Given the description of an element on the screen output the (x, y) to click on. 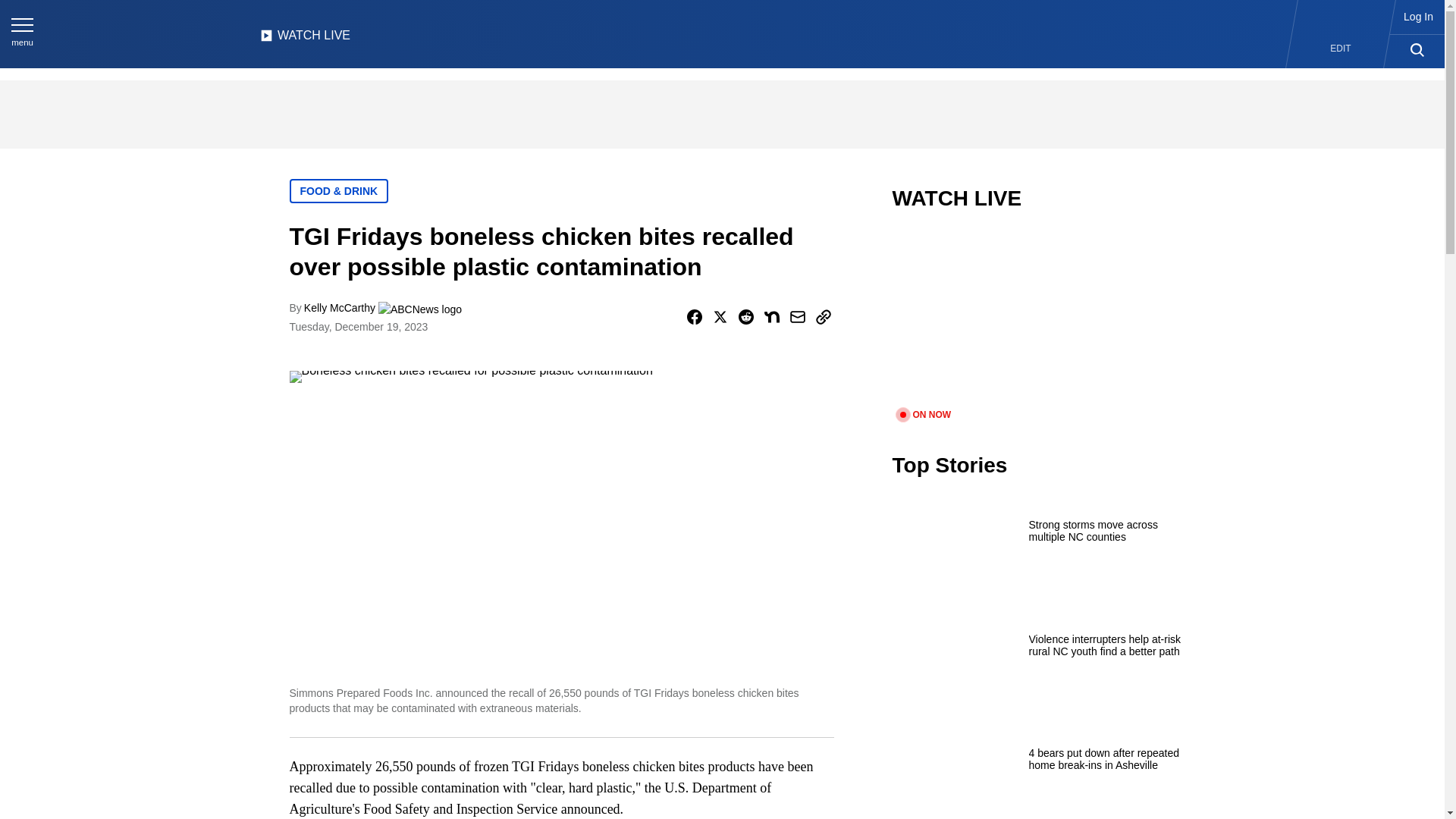
WATCH LIVE (305, 39)
video.title (1043, 318)
EDIT (1340, 48)
